Given the description of an element on the screen output the (x, y) to click on. 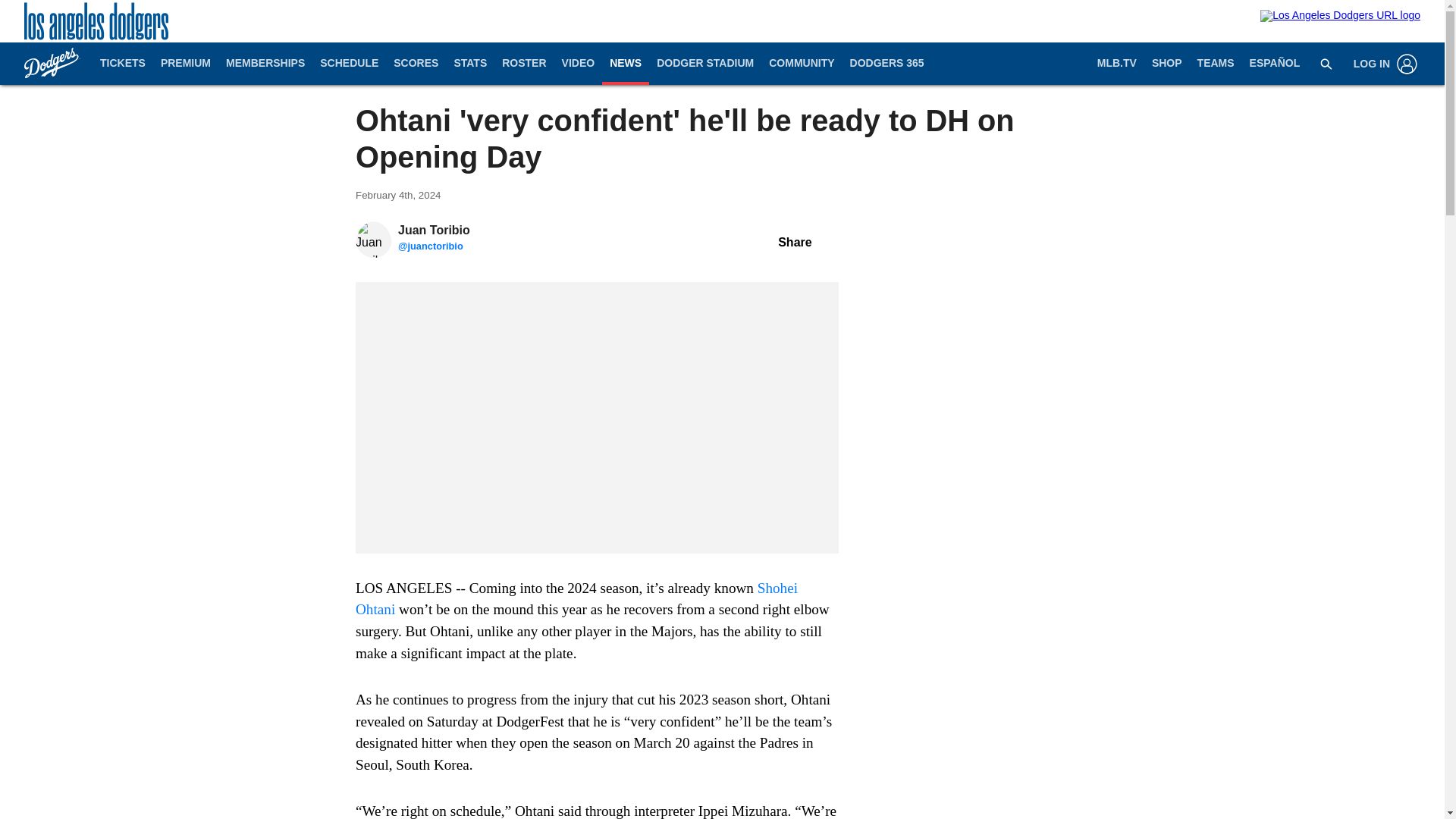
SCHEDULE (349, 63)
TICKETS (122, 63)
MEMBERSHIPS (265, 63)
PREMIUM (185, 63)
SCORES (415, 63)
STATS (470, 63)
search-161115 (1326, 63)
